Given the description of an element on the screen output the (x, y) to click on. 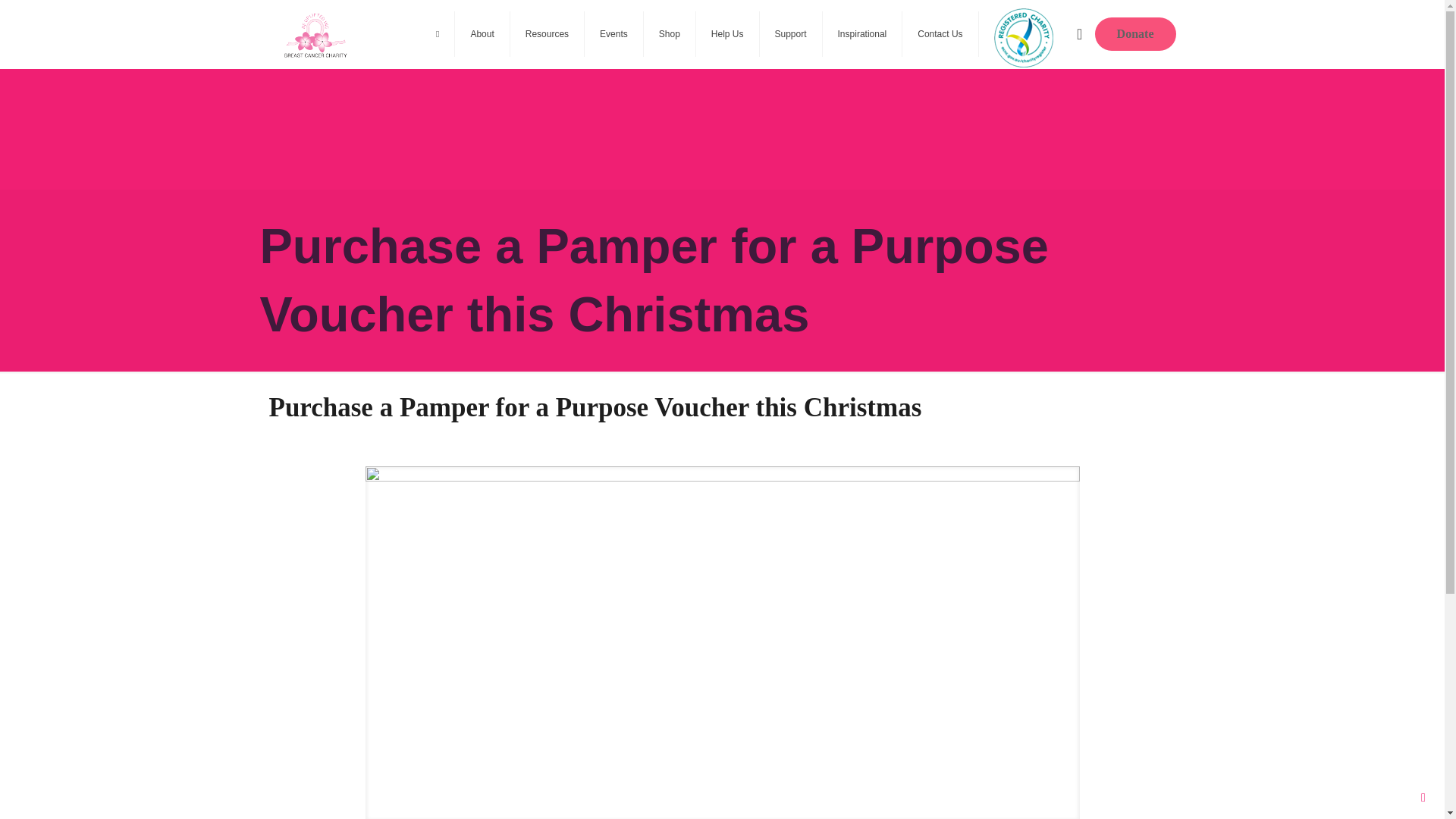
Help Us (727, 33)
Be Uplifted Inc Brisbane Breast Cancer Charity (314, 33)
Resources (548, 33)
Support (791, 33)
